Given the description of an element on the screen output the (x, y) to click on. 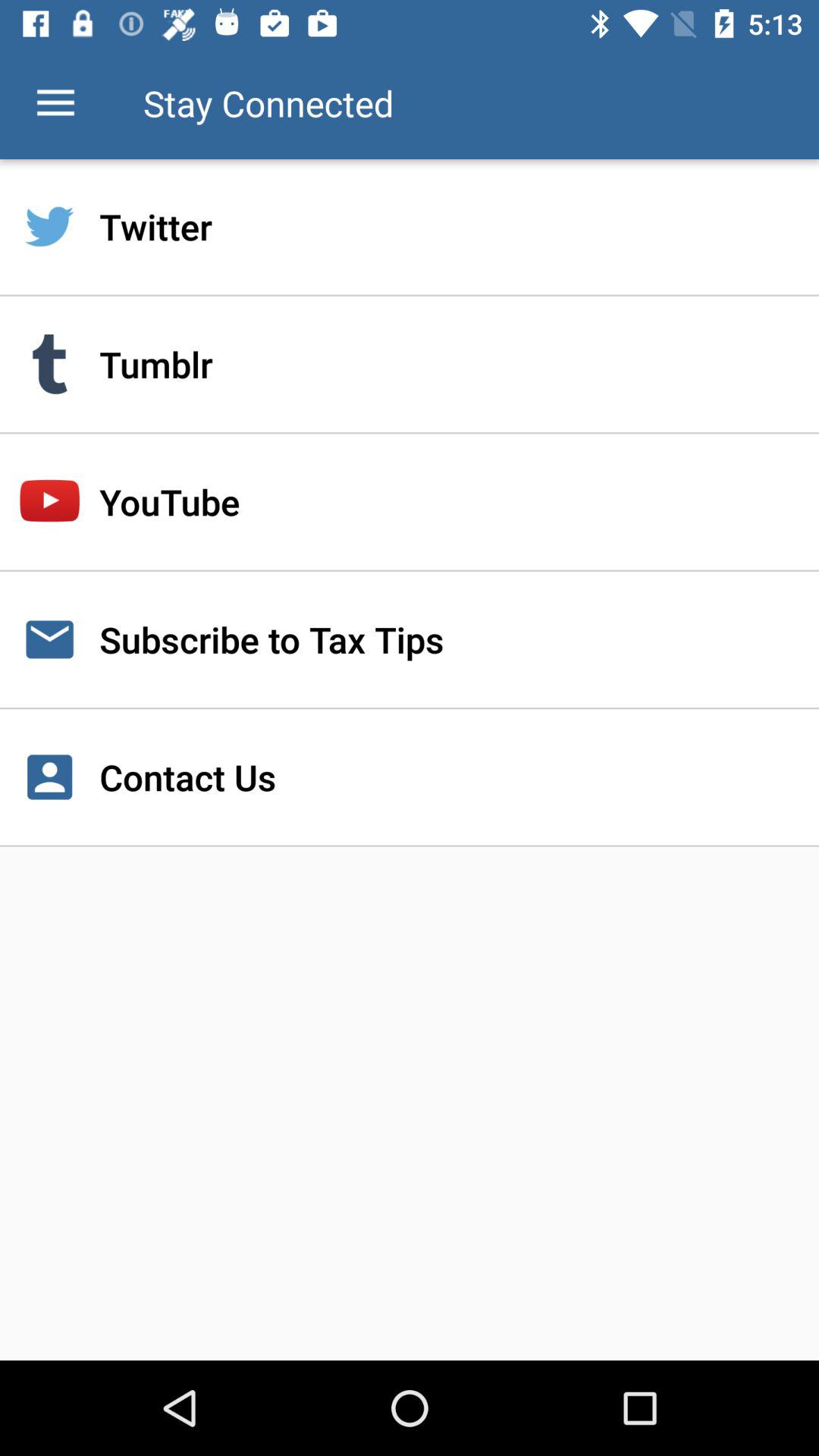
flip until the twitter item (409, 226)
